Given the description of an element on the screen output the (x, y) to click on. 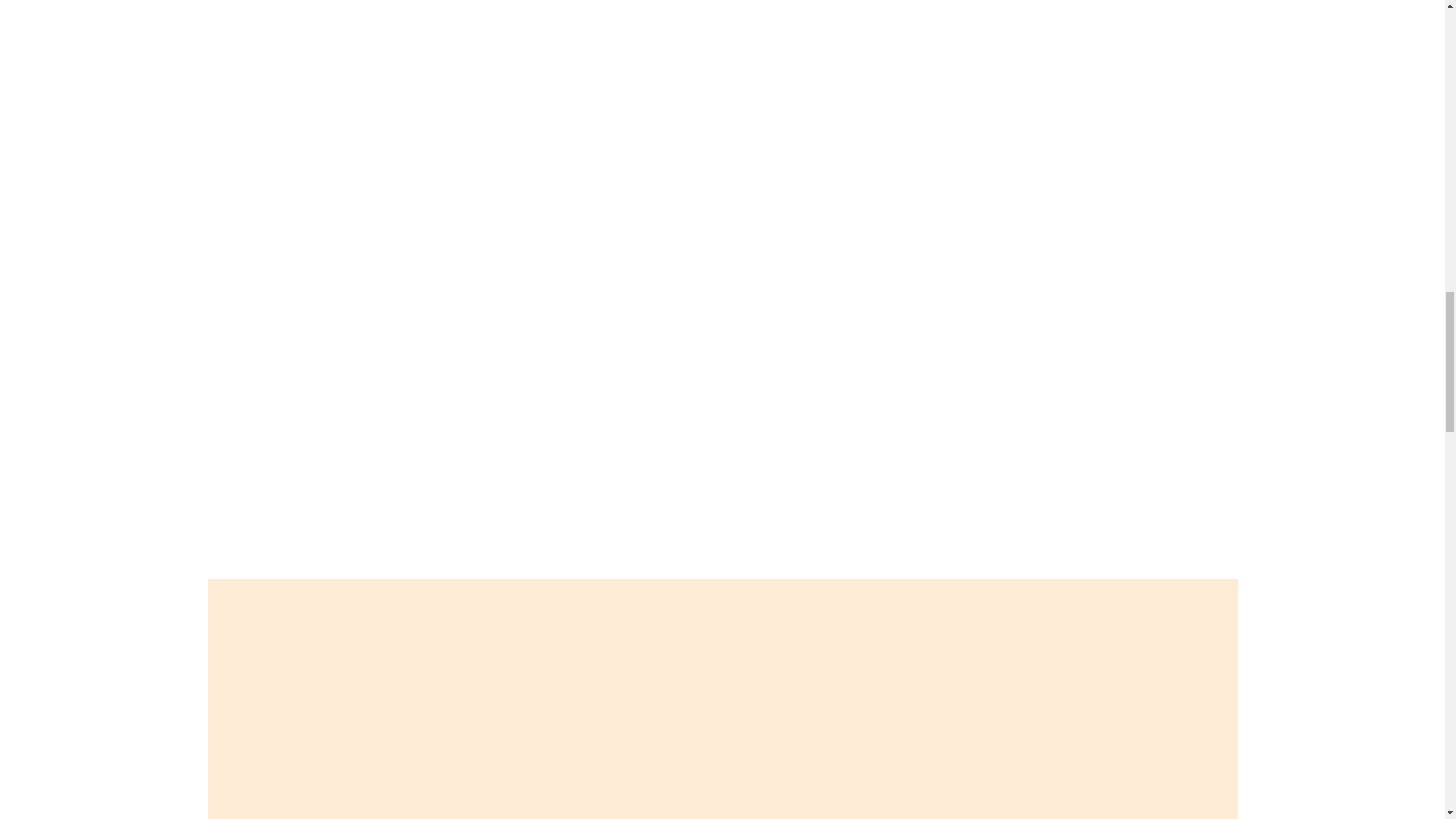
Sign Up (234, 571)
